Given the description of an element on the screen output the (x, y) to click on. 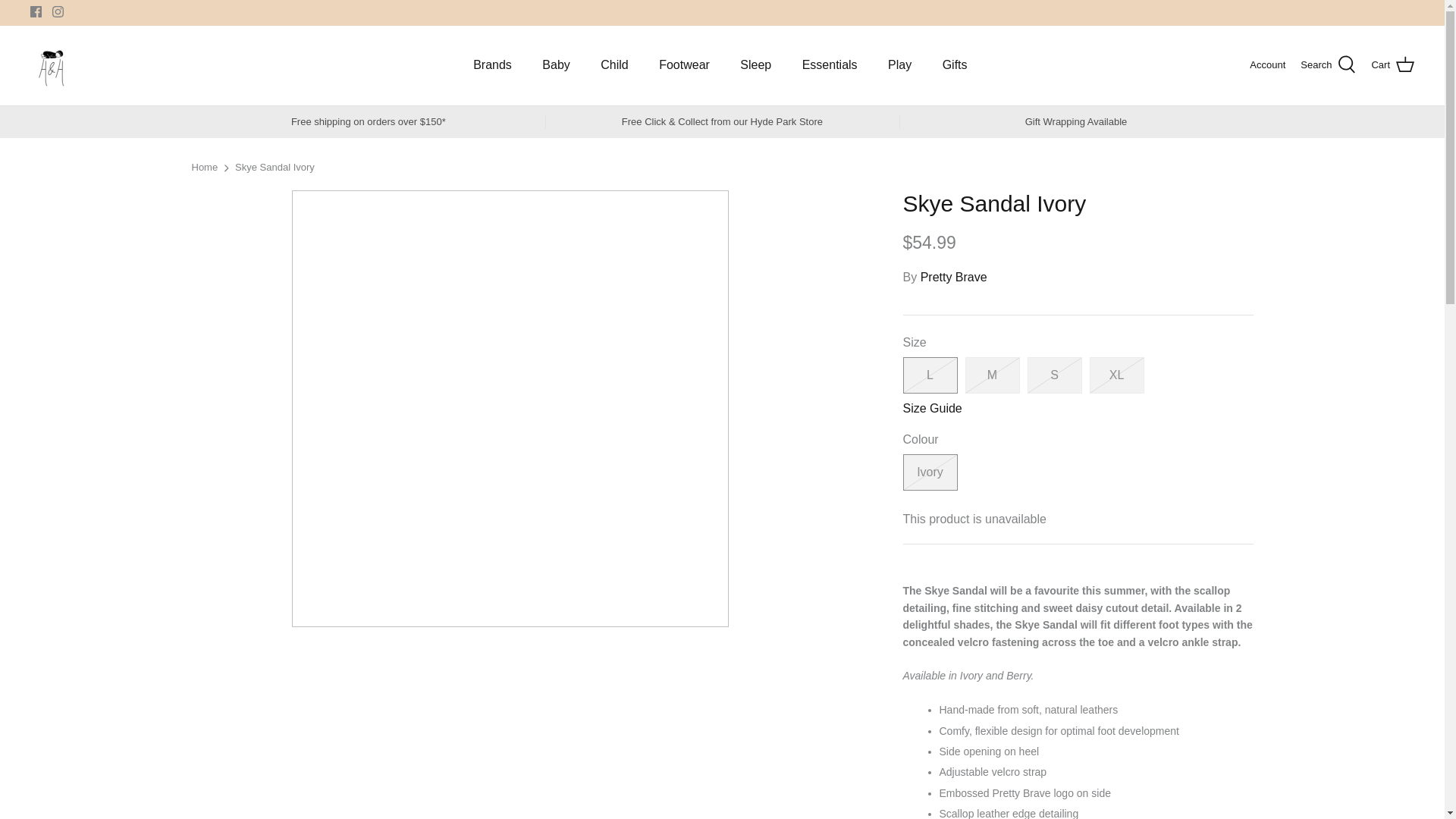
Gifts (954, 64)
Facebook (36, 11)
Baby (555, 64)
Brands (492, 64)
Play (899, 64)
Cart (1392, 65)
Instagram (58, 11)
Sleep (755, 64)
Footwear (684, 64)
Account (1267, 65)
Facebook (36, 11)
Instagram (58, 11)
Essentials (829, 64)
Search (1327, 65)
Child (614, 64)
